Given the description of an element on the screen output the (x, y) to click on. 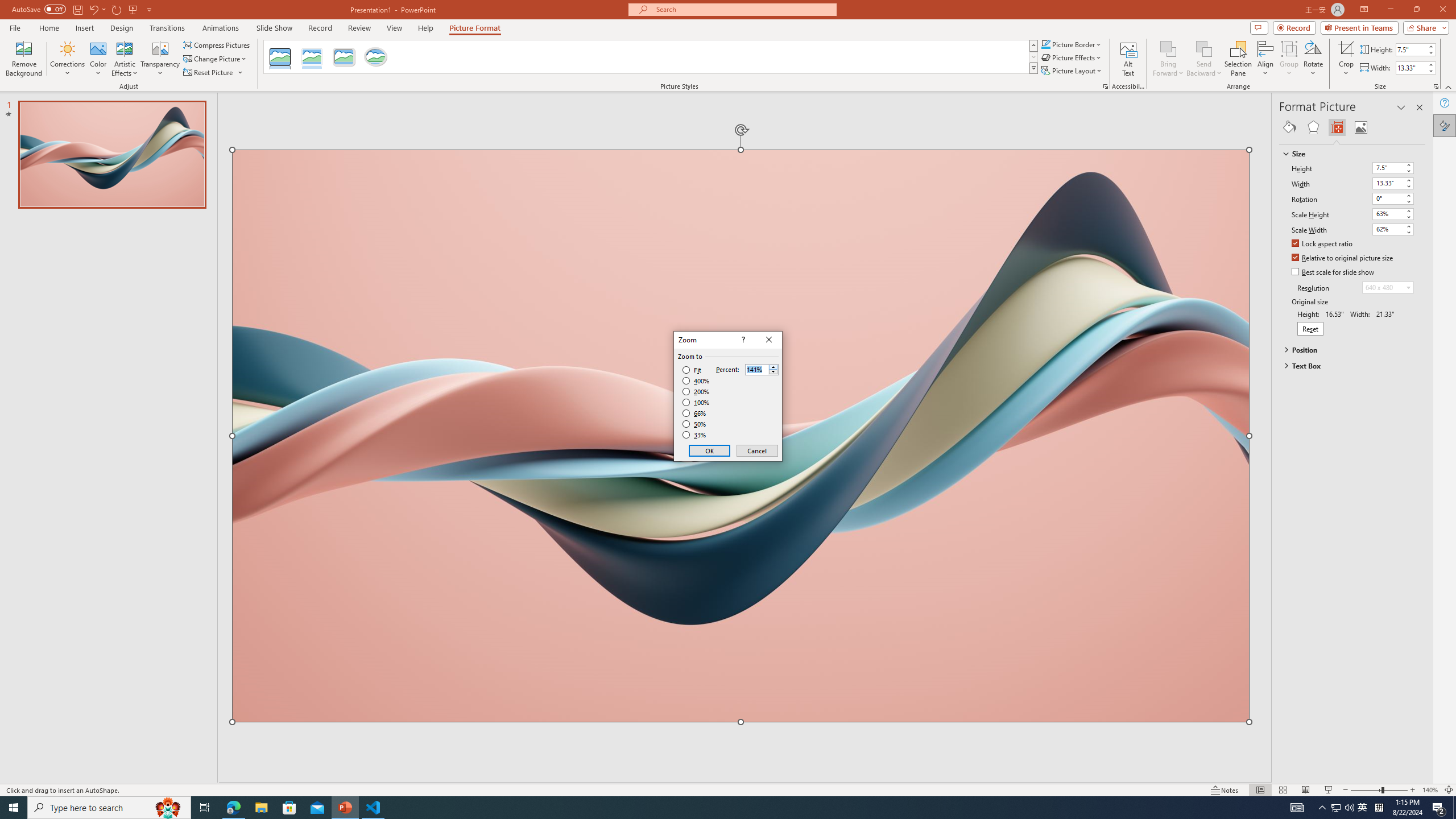
Picture Border (1071, 44)
Width (1388, 182)
Bring Forward (1168, 58)
Width (1393, 183)
Picture (1361, 126)
Height (1393, 167)
Picture Effects (1072, 56)
